Given the description of an element on the screen output the (x, y) to click on. 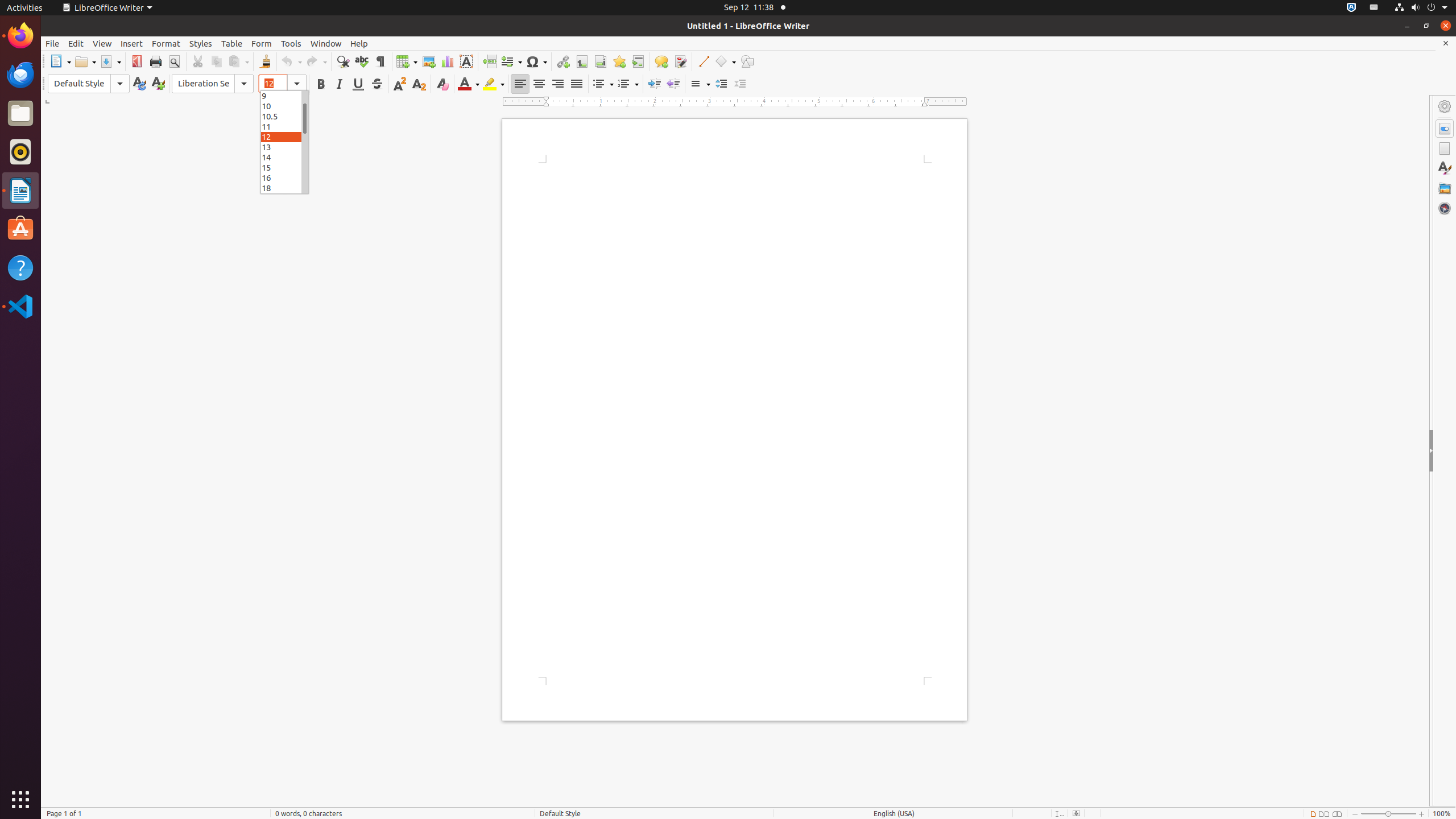
Thunderbird Mail Element type: push-button (20, 74)
Highlight Color Element type: push-button (493, 83)
Print Preview Element type: toggle-button (173, 61)
Update Element type: push-button (138, 83)
Window Element type: menu (325, 43)
